Given the description of an element on the screen output the (x, y) to click on. 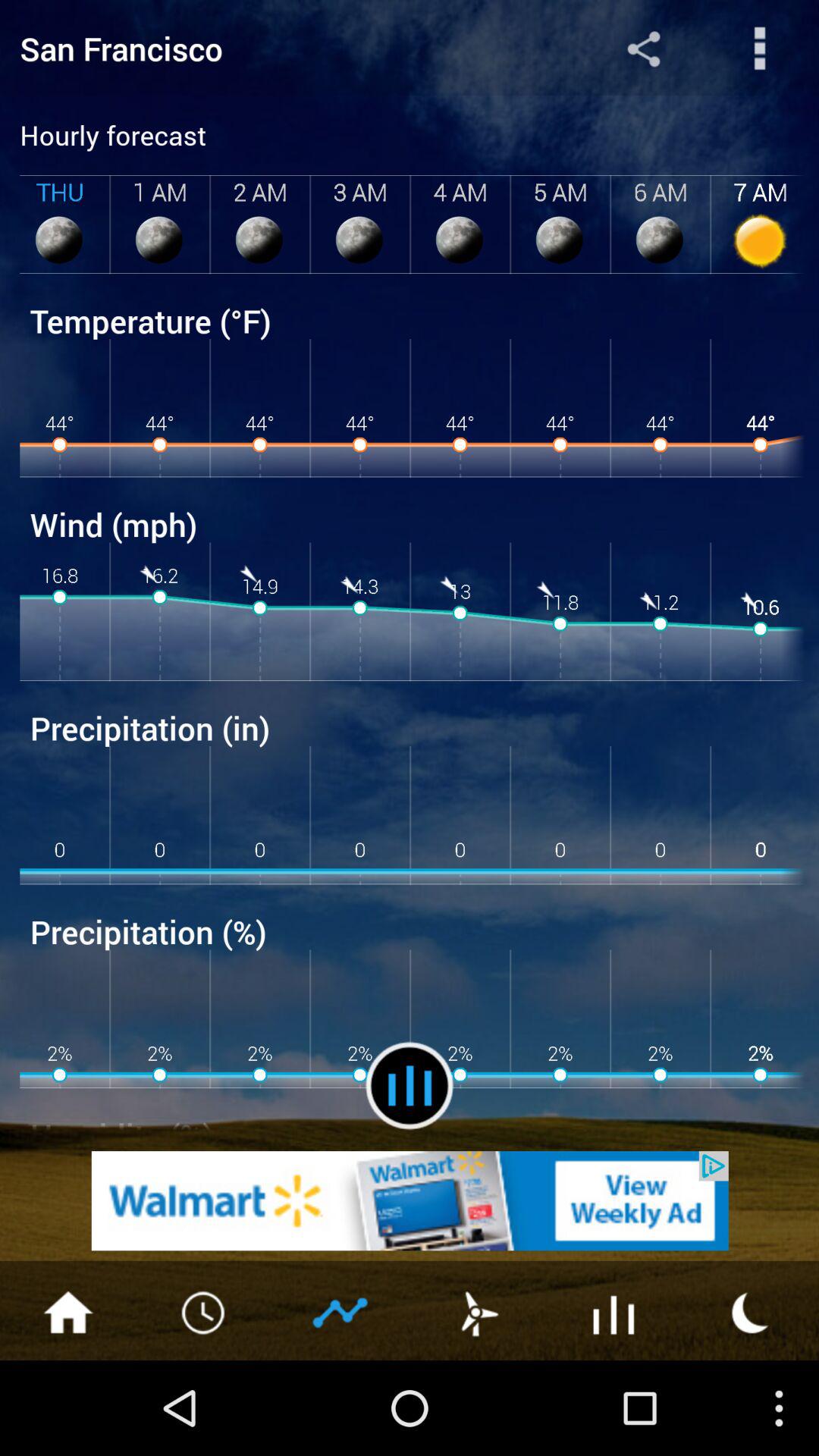
display graph (341, 1311)
